Given the description of an element on the screen output the (x, y) to click on. 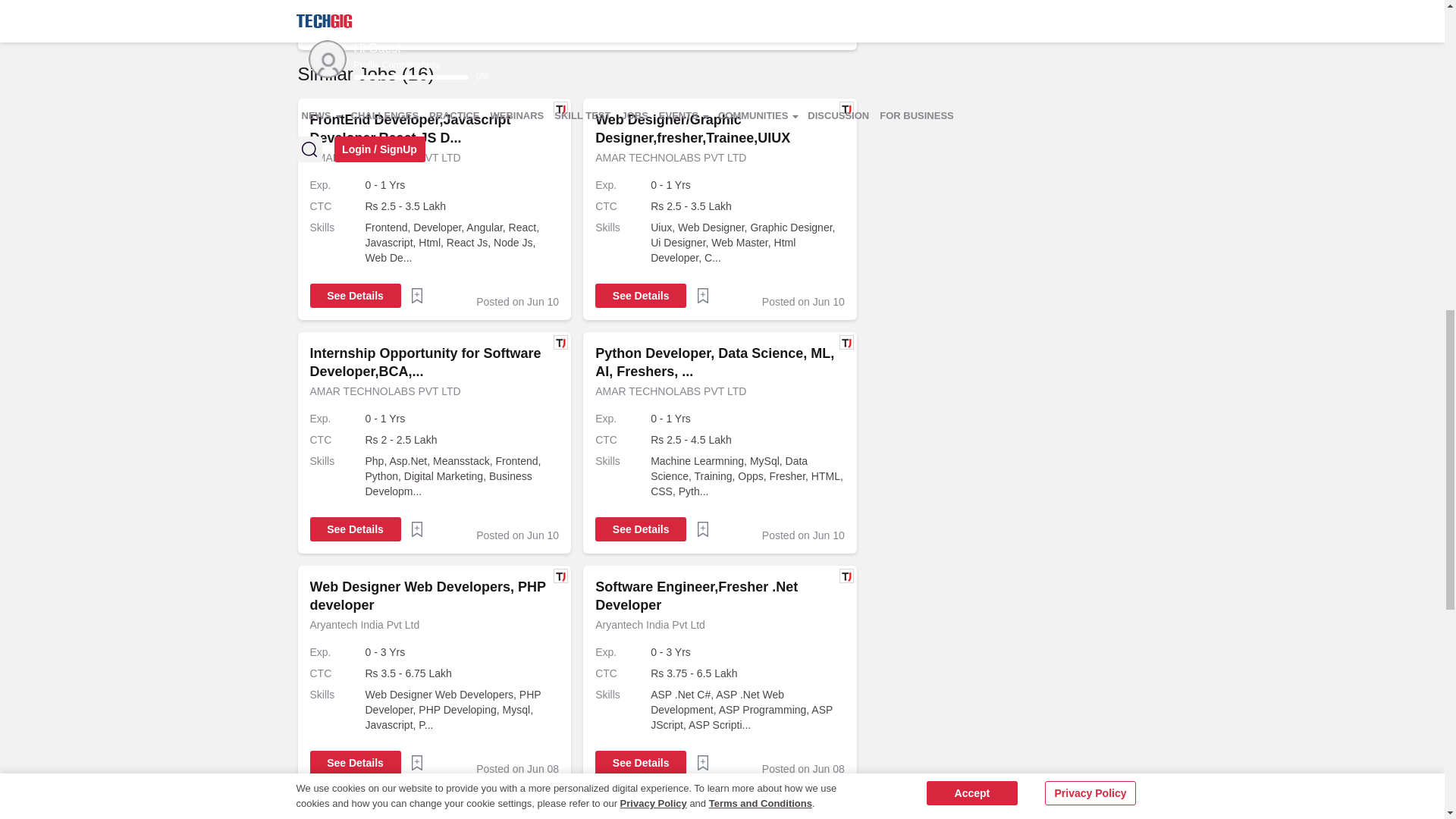
uiux, web designer, graphic designer, ui designer, web ... (747, 242)
Frontend, Developer, Angular, React, Javascript, Html, ... (462, 242)
php, asp.net, meansstack, frontend, python, Digital Mar... (462, 475)
Web Designer Web Developers, PHP developer, PHP Develop... (462, 709)
Machine Learmning, MySql, Data Science, Training, Opps,... (747, 475)
